Given the description of an element on the screen output the (x, y) to click on. 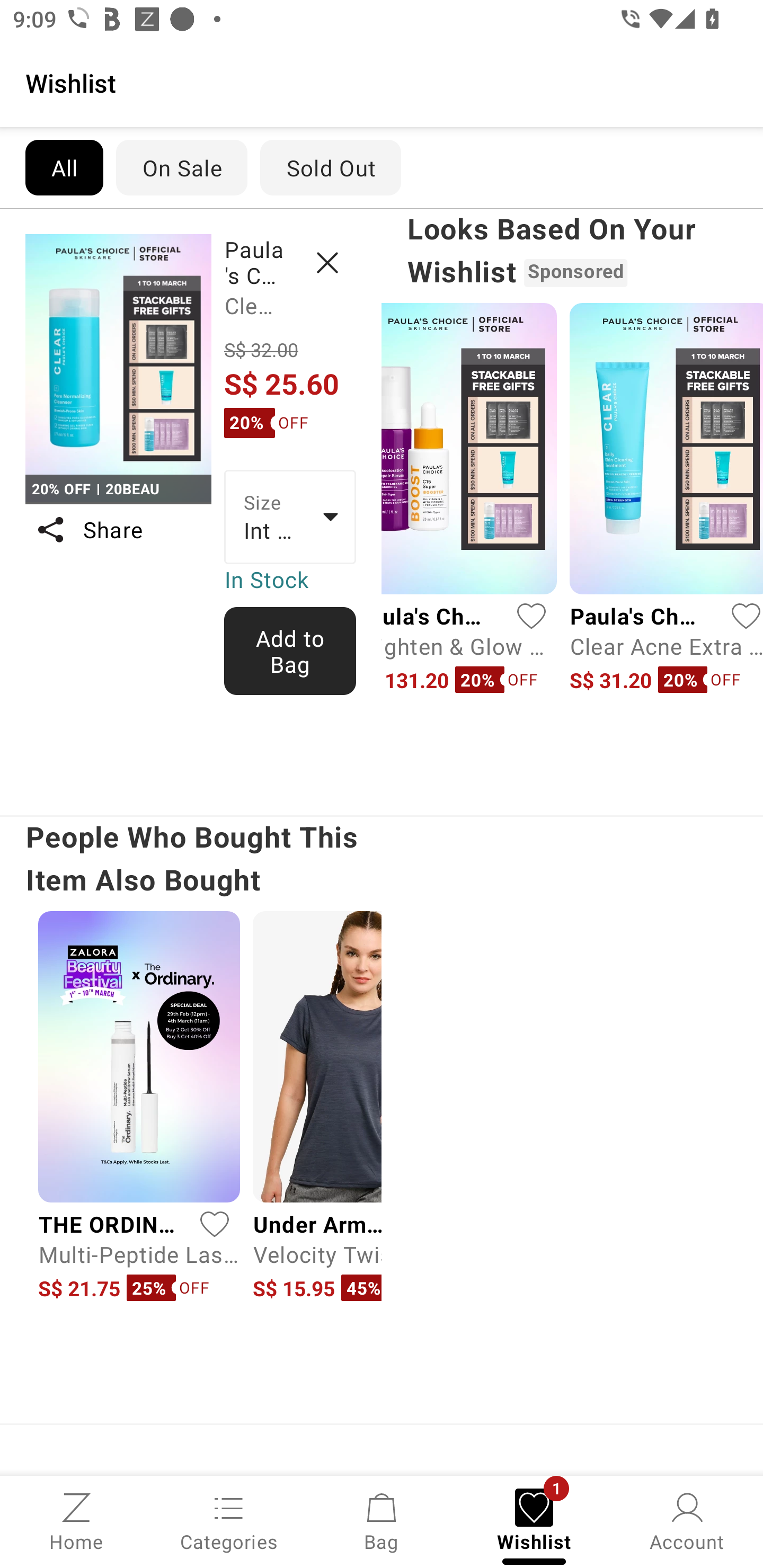
Wishlist (381, 82)
All (64, 167)
On Sale (181, 167)
Sold Out (330, 167)
Size Int 177 ml (290, 517)
Share (118, 529)
Add to Bag (290, 650)
Home (76, 1519)
Categories (228, 1519)
Bag (381, 1519)
Account (686, 1519)
